Given the description of an element on the screen output the (x, y) to click on. 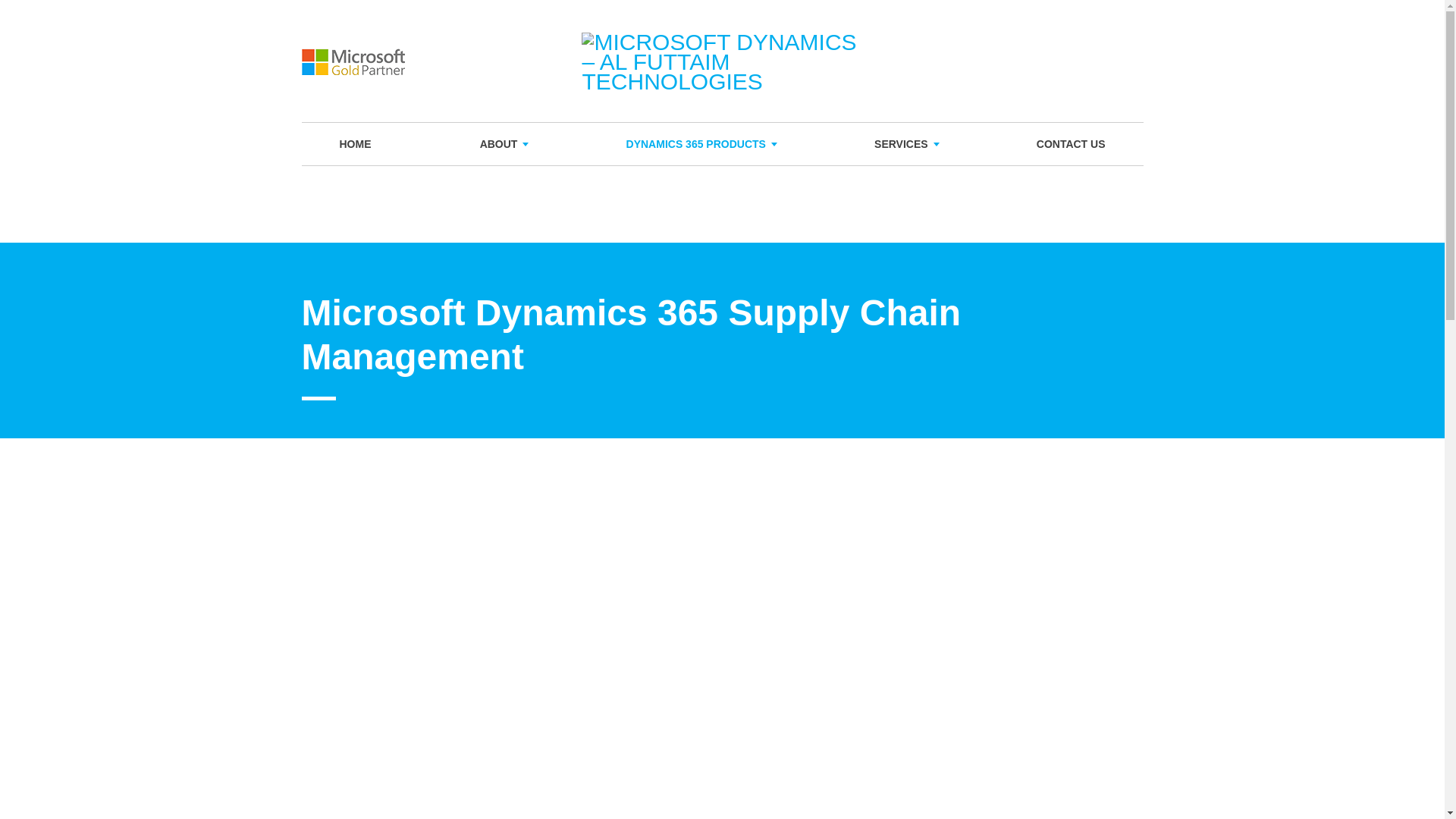
ABOUT (498, 143)
SERVICES (901, 143)
HOME (354, 143)
DYNAMICS 365 PRODUCTS (695, 143)
Call Us (1127, 60)
